Given the description of an element on the screen output the (x, y) to click on. 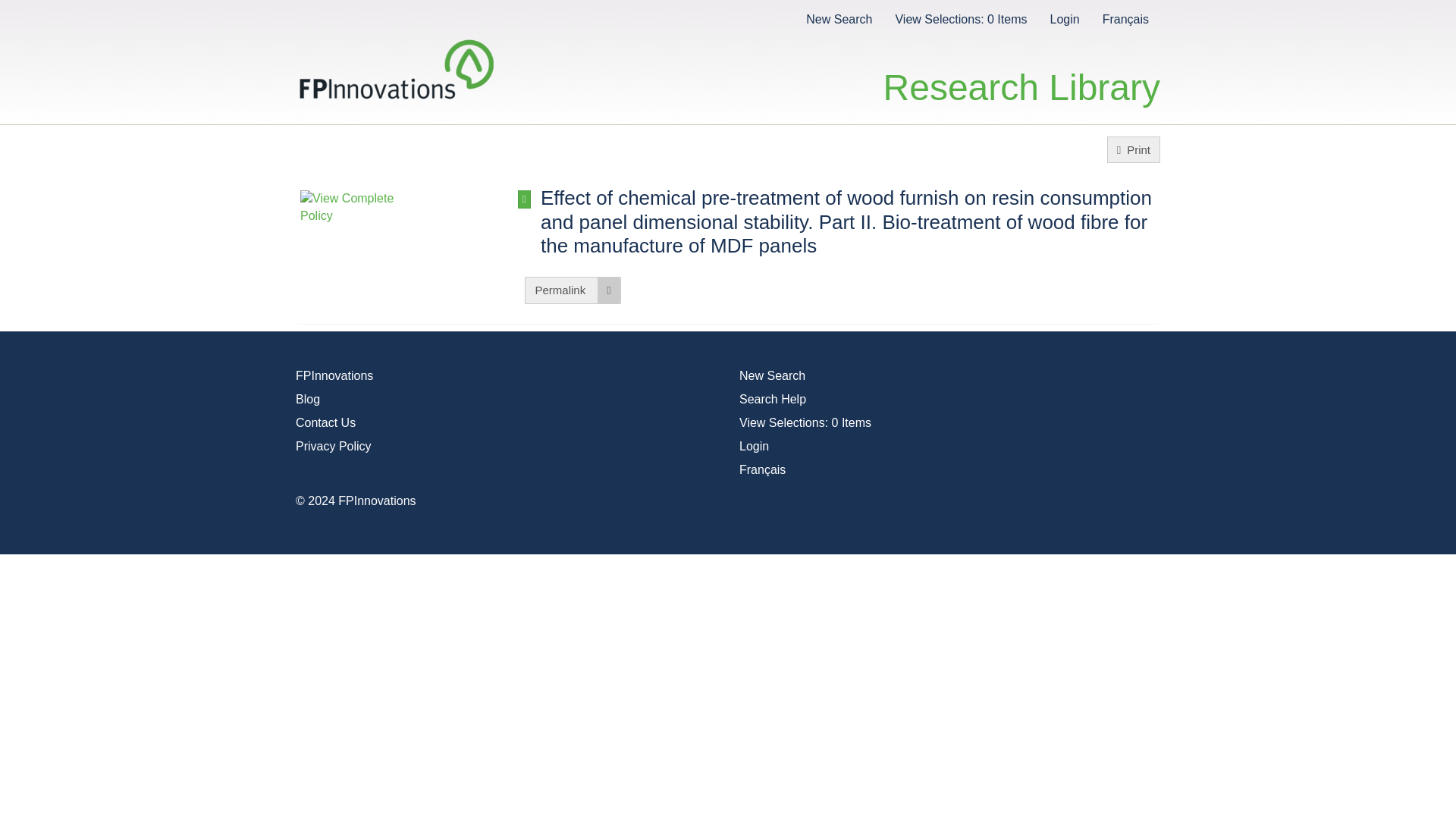
Permalink (572, 289)
Contact Us (325, 422)
New Search (772, 375)
Privacy Policy (333, 445)
Blog (307, 399)
View Selections: 0 Items (960, 18)
Print (1133, 149)
New Search (838, 18)
Research Library (1021, 71)
FPInnovations (333, 375)
Search Help (772, 399)
Permalink (572, 289)
Toggle Full Record (849, 221)
View Selections: 0 Items (804, 422)
Login (753, 445)
